Given the description of an element on the screen output the (x, y) to click on. 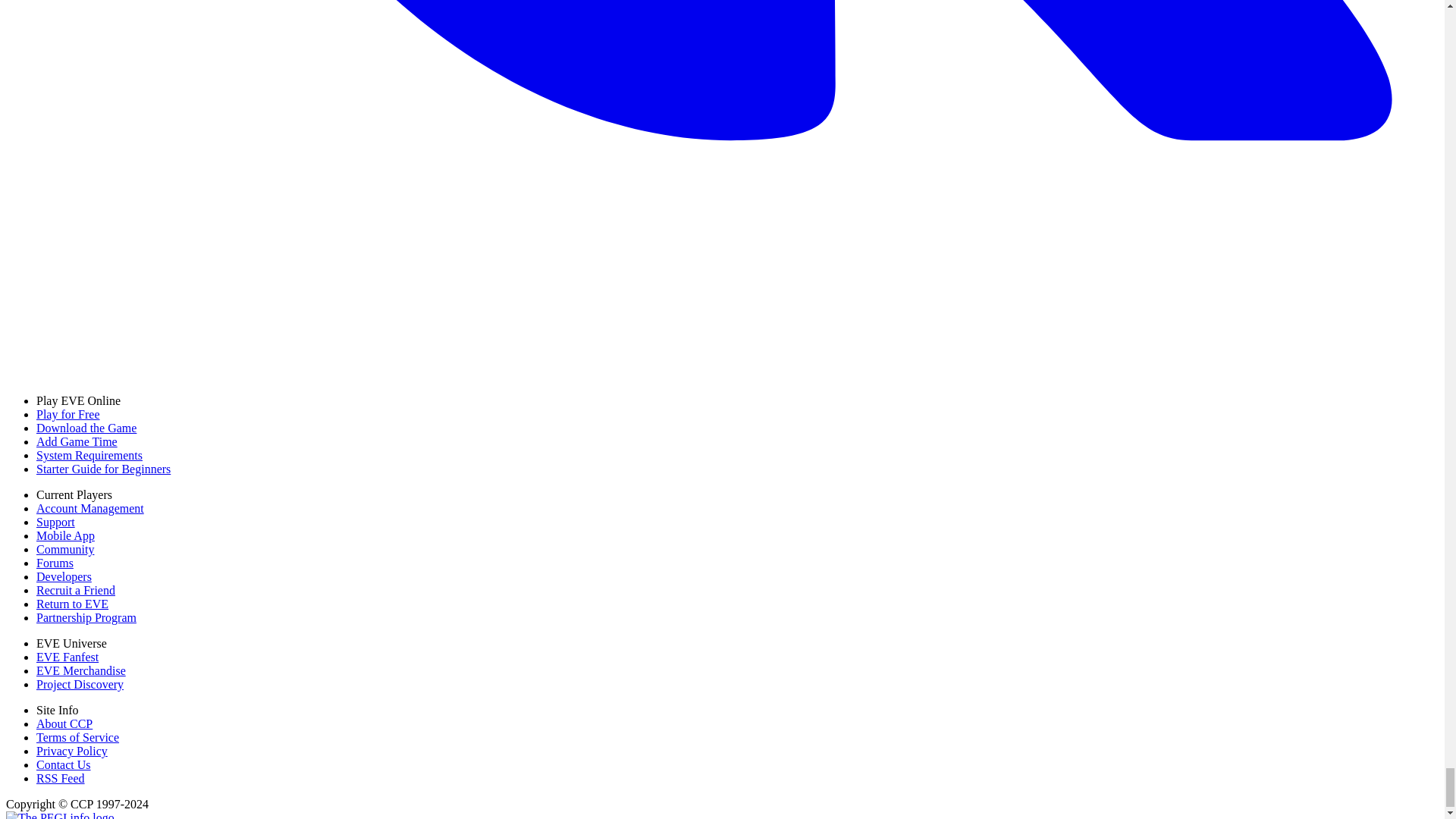
EVE Merchandise (80, 670)
Terms of Service (77, 737)
Recruit a Friend (75, 590)
About CCP (64, 723)
Partnership Program (86, 617)
Account Management (90, 508)
RSS Feed (60, 778)
Mobile App (65, 535)
Return to EVE (71, 603)
System Requirements (89, 454)
Forums (55, 562)
Contact Us (63, 764)
Starter Guide for Beginners (103, 468)
Developers (63, 576)
Support (55, 521)
